Given the description of an element on the screen output the (x, y) to click on. 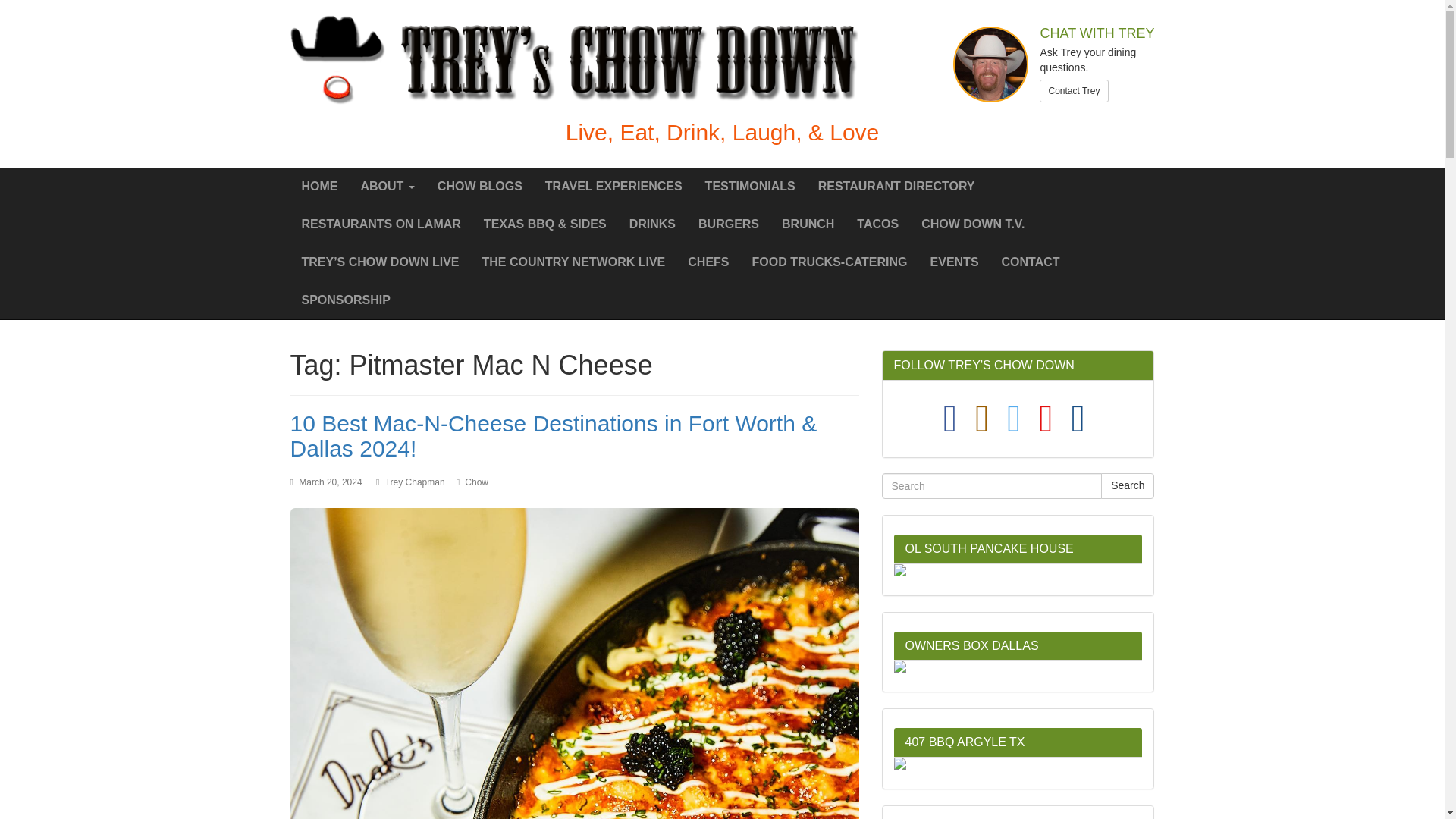
FOOD TRUCKS-CATERING (829, 262)
RESTAURANTS ON LAMAR (380, 224)
Trey Chapman (415, 481)
BURGERS (728, 224)
CHEFS (708, 262)
TACOS (877, 224)
HOME (319, 186)
March 20, 2024 (329, 481)
TRAVEL EXPERIENCES (614, 186)
SPONSORSHIP (345, 300)
DRINKS (652, 224)
BRUNCH (807, 224)
ABOUT (387, 186)
CHOW BLOGS (480, 186)
TESTIMONIALS (750, 186)
